Given the description of an element on the screen output the (x, y) to click on. 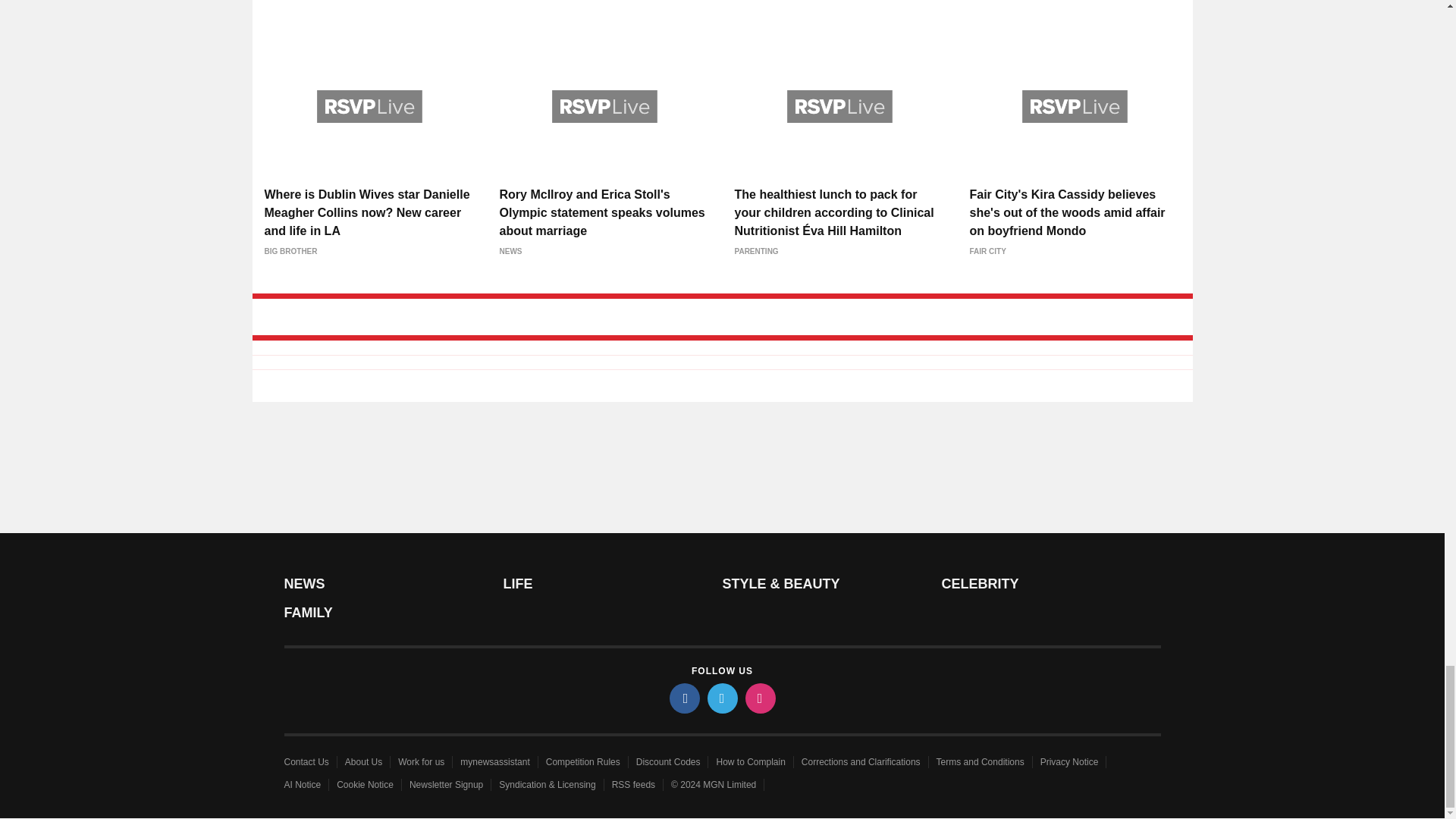
instagram (759, 698)
facebook (683, 698)
twitter (721, 698)
